Given the description of an element on the screen output the (x, y) to click on. 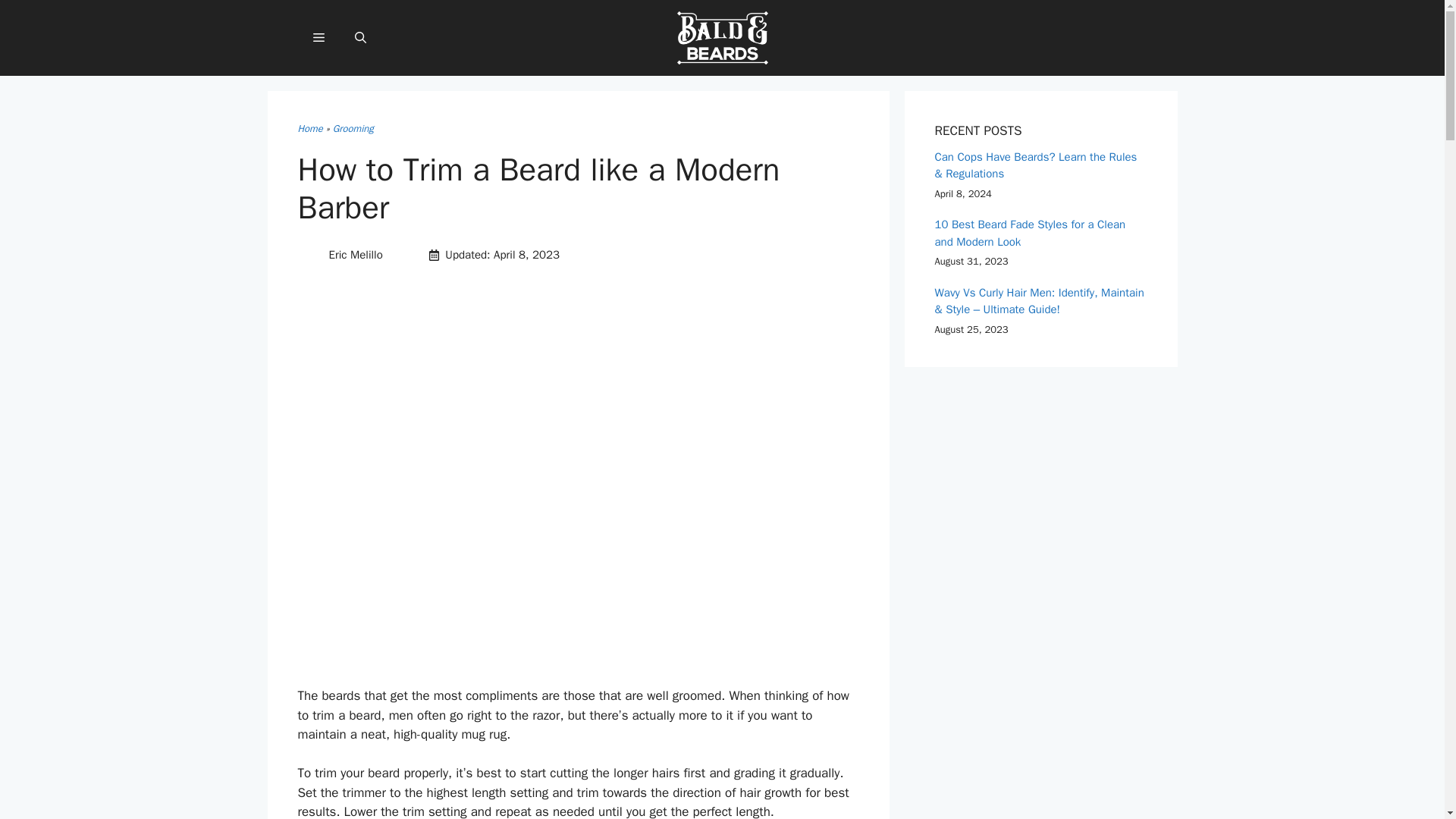
Home (309, 128)
Eric Melillo (355, 254)
Grooming (353, 128)
